Given the description of an element on the screen output the (x, y) to click on. 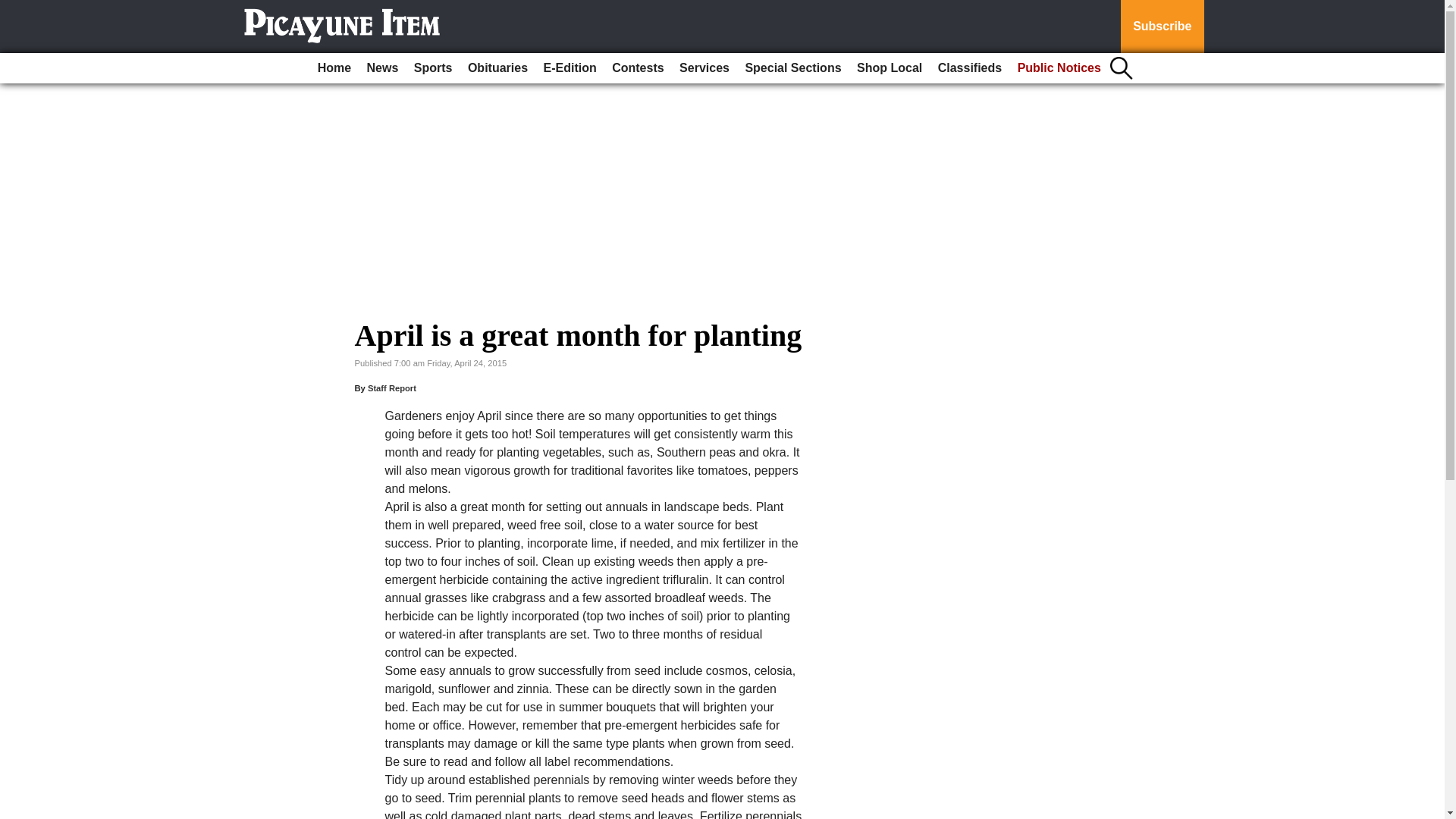
Services (703, 68)
Shop Local (889, 68)
Obituaries (497, 68)
Public Notices (1058, 68)
Home (333, 68)
Staff Report (392, 388)
Classifieds (969, 68)
E-Edition (569, 68)
News (382, 68)
Sports (432, 68)
